Given the description of an element on the screen output the (x, y) to click on. 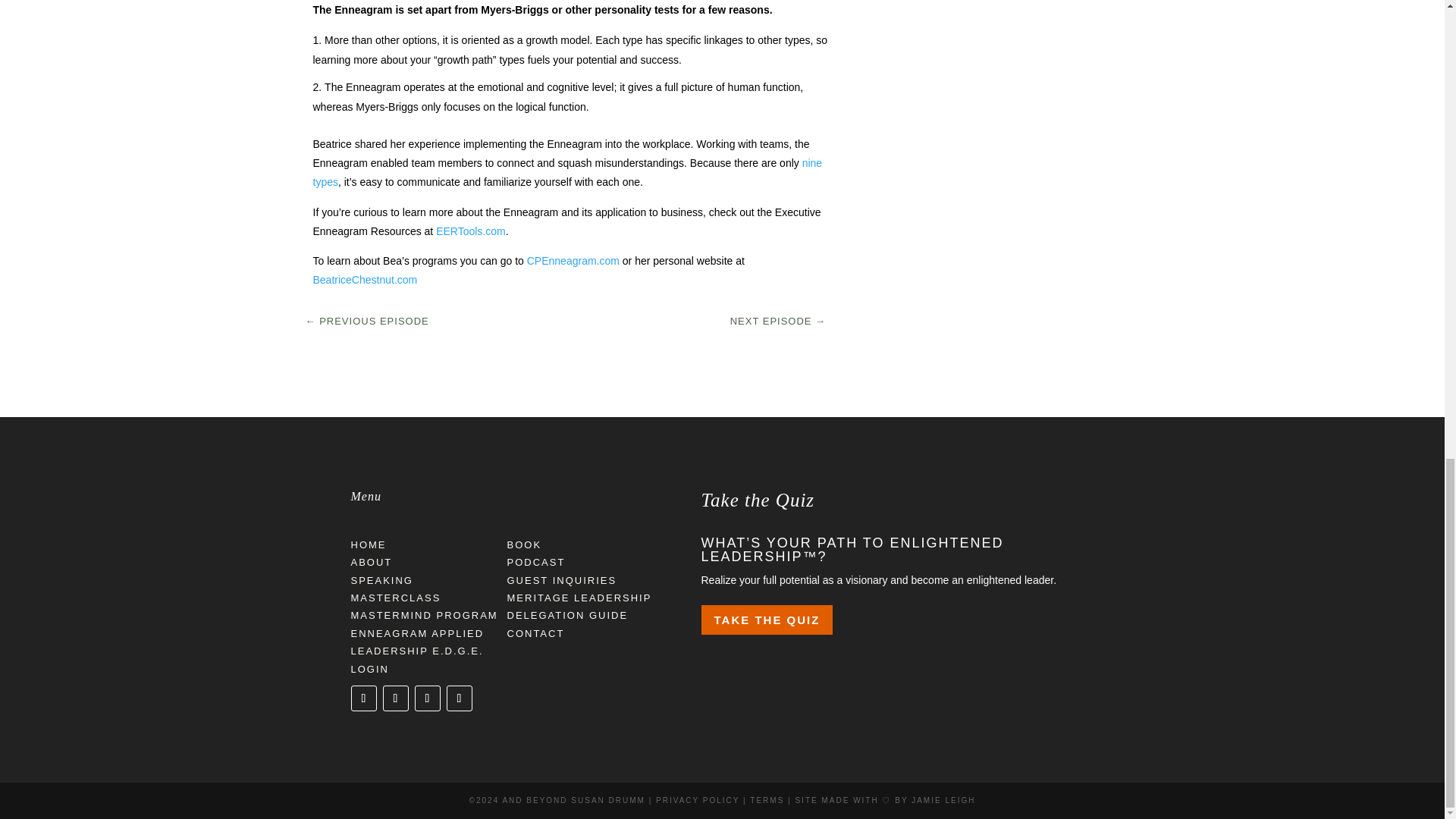
nine types (567, 172)
Follow on Facebook (394, 698)
Follow on X (362, 698)
EERTools.com (470, 231)
BeatriceChestnut.com (364, 279)
CPEnneagram.com (573, 260)
Follow on LinkedIn (426, 698)
HOME (367, 544)
Follow on Youtube (458, 698)
